Given the description of an element on the screen output the (x, y) to click on. 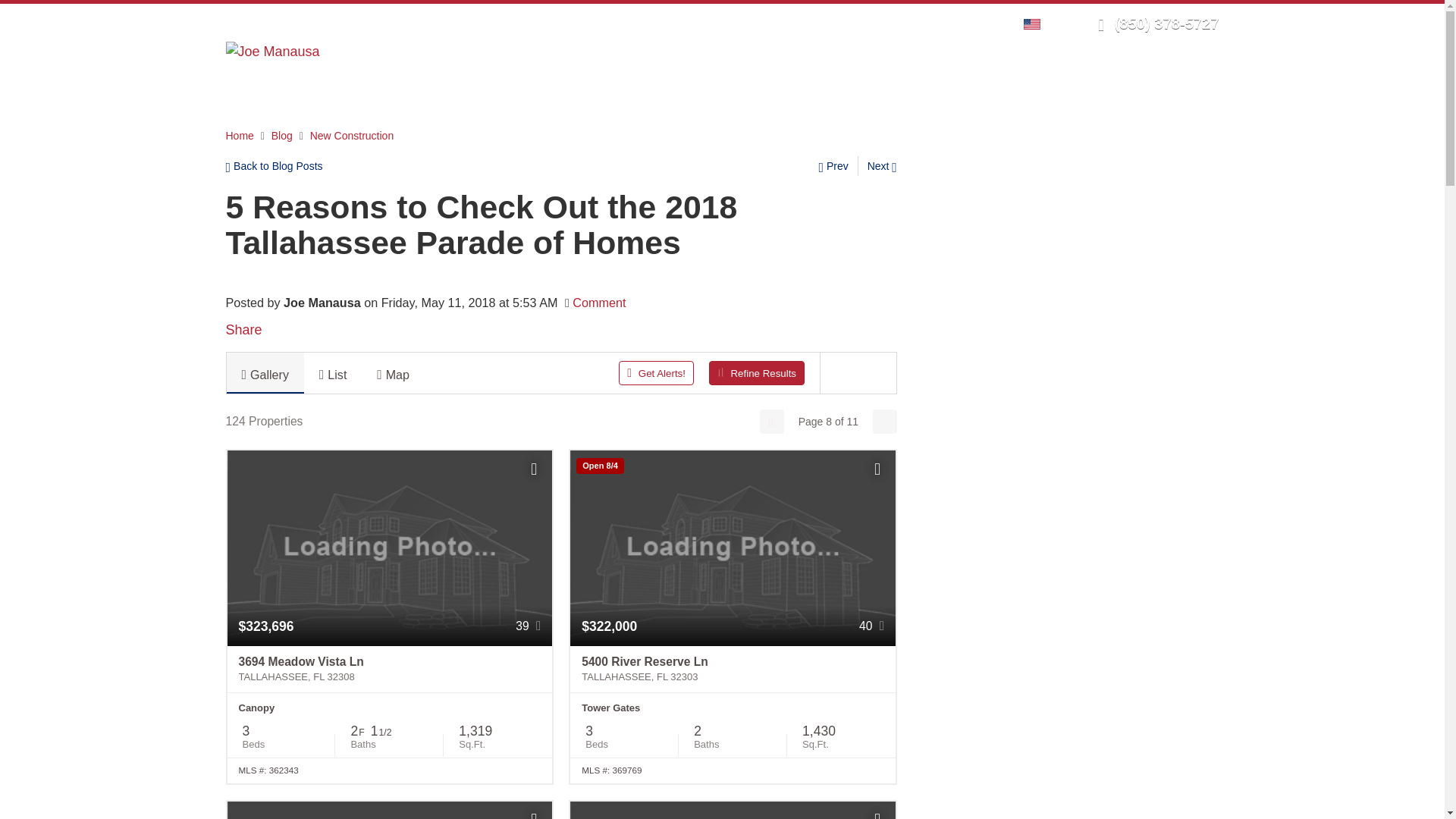
3694 Meadow Vista Ln Tallahassee,  FL 32308 (390, 669)
Select Language (1035, 23)
Login (900, 23)
Register (948, 23)
5400 River Reserve Ln Tallahassee,  FL 32303 (732, 669)
Home Page (272, 50)
